Given the description of an element on the screen output the (x, y) to click on. 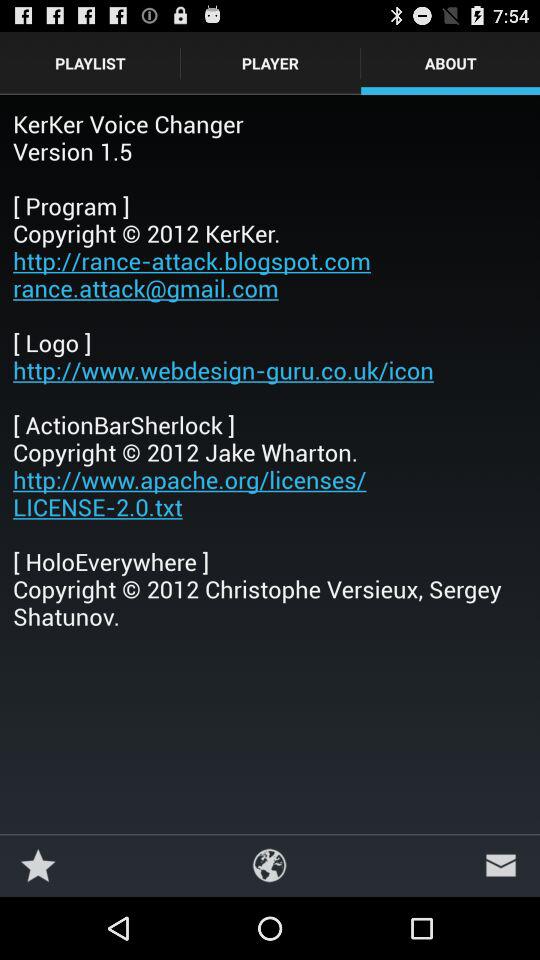
jump until the kerker voice changer (270, 369)
